Given the description of an element on the screen output the (x, y) to click on. 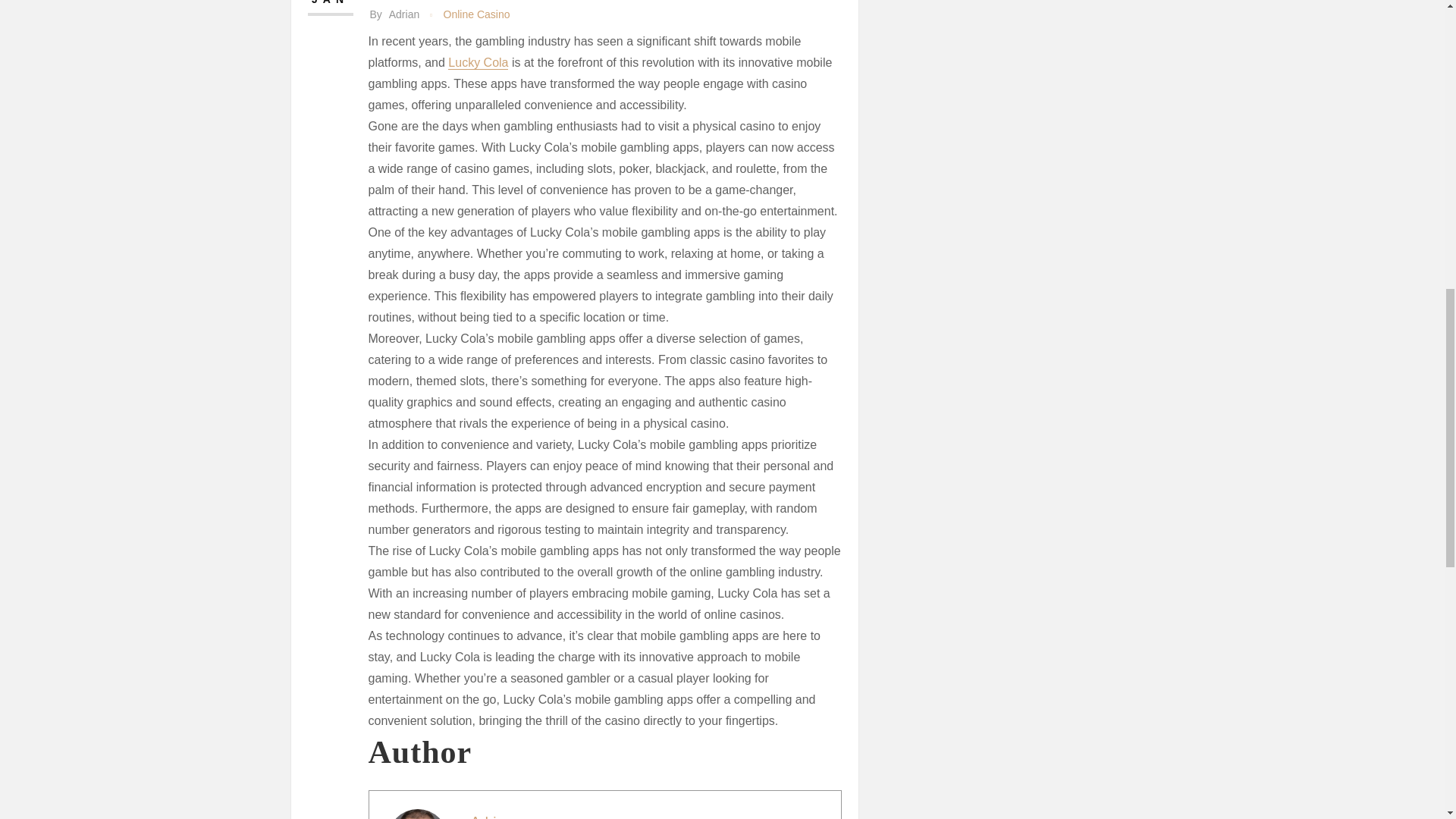
Online Casino (477, 14)
Adrian (491, 816)
By Adrian (394, 14)
Adrian (491, 816)
Lucky Cola (478, 62)
